Given the description of an element on the screen output the (x, y) to click on. 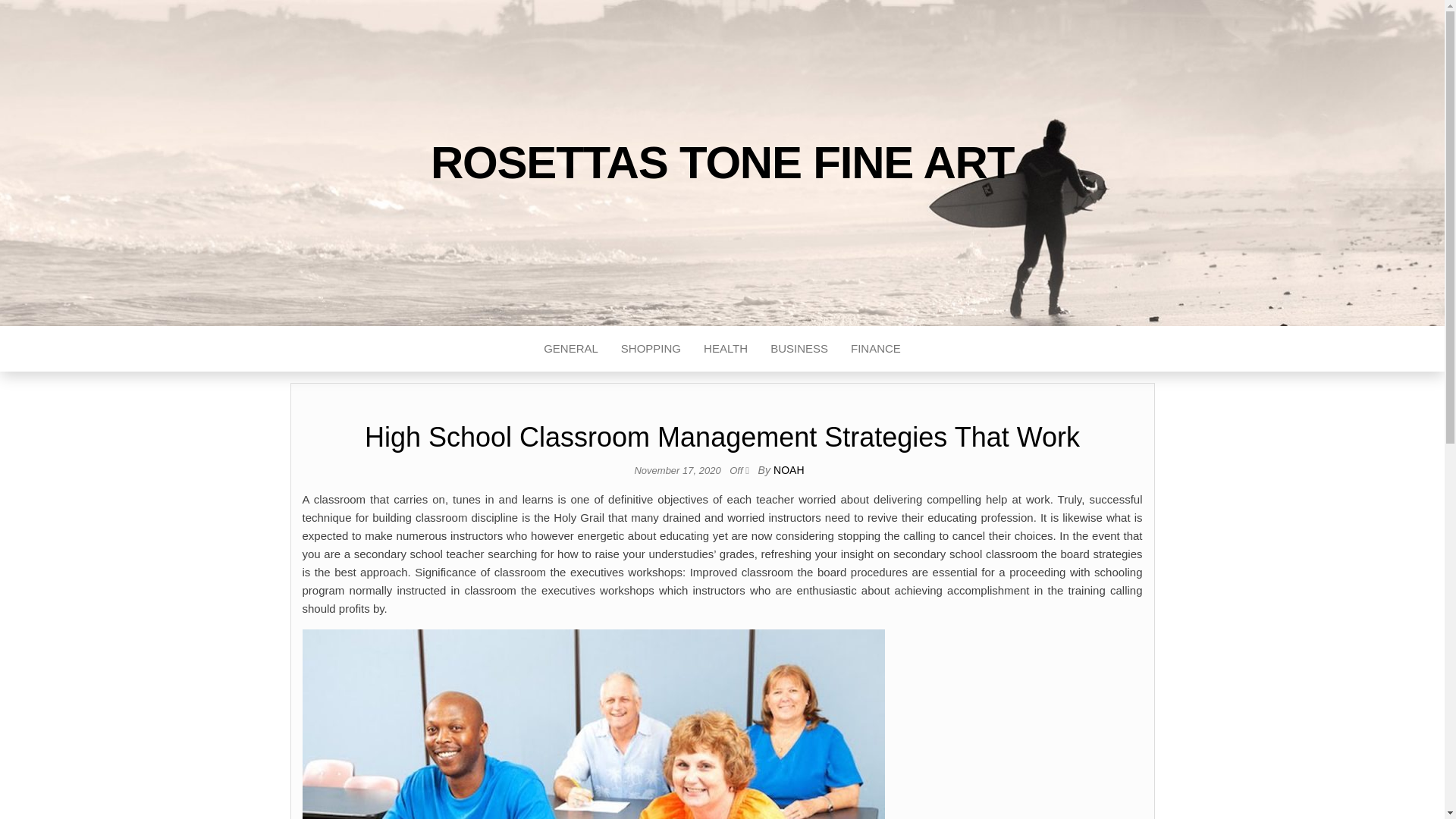
Finance (876, 348)
GENERAL (571, 348)
Shopping (651, 348)
HEALTH (725, 348)
SHOPPING (651, 348)
FINANCE (876, 348)
BUSINESS (799, 348)
ROSETTAS TONE FINE ART (721, 162)
Business (799, 348)
Health (725, 348)
